Given the description of an element on the screen output the (x, y) to click on. 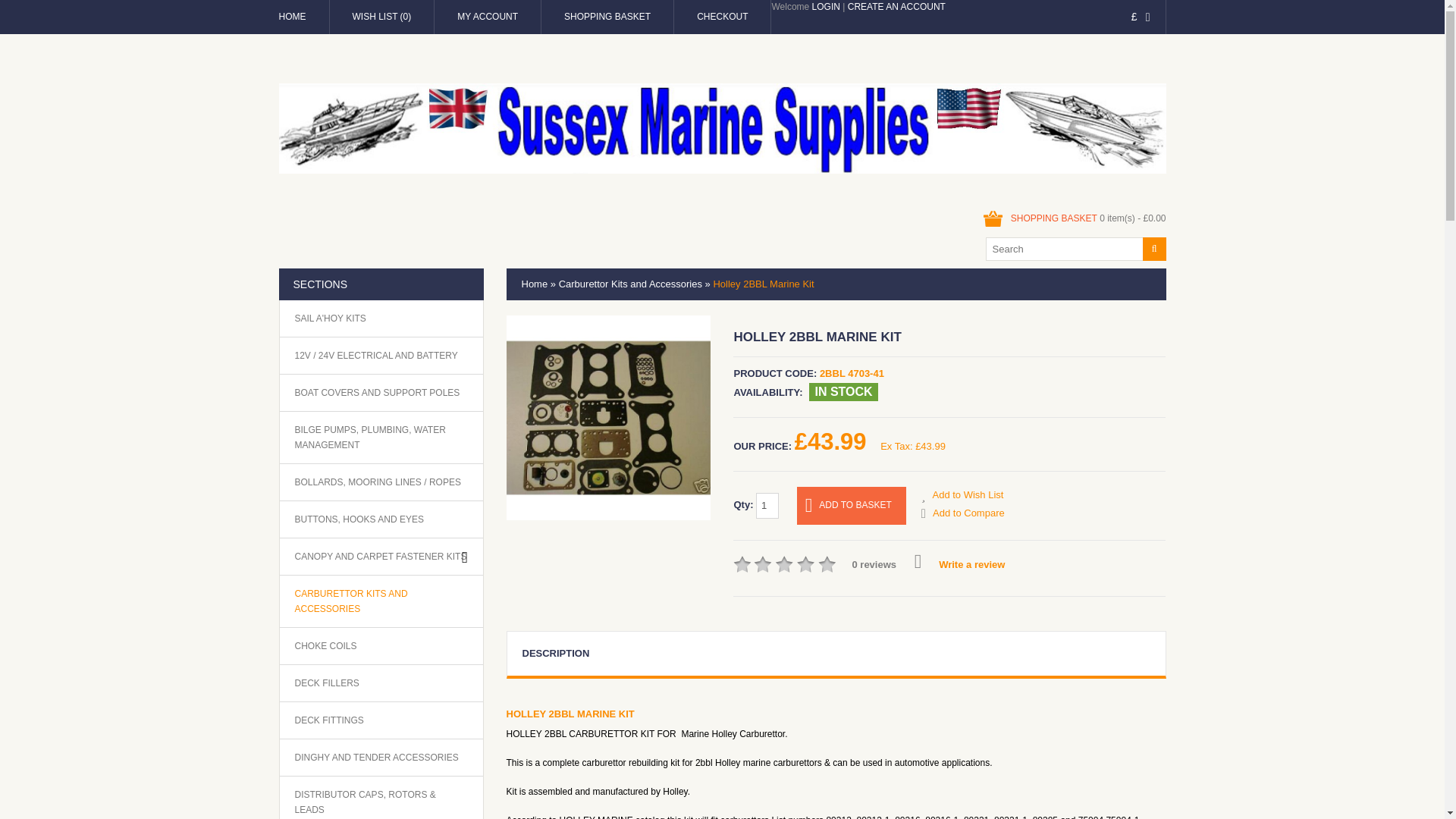
BILGE PUMPS, PLUMBING, WATER MANAGEMENT (380, 437)
CREATE AN ACCOUNT (895, 7)
SHOPPING BASKET (607, 16)
CHECKOUT (722, 16)
BOAT COVERS AND SUPPORT POLES (377, 392)
SAIL A'HOY KITS (329, 318)
LOGIN (826, 7)
MY ACCOUNT (487, 16)
Sussex Marine Supplies (722, 128)
Add to Compare (962, 512)
